Given the description of an element on the screen output the (x, y) to click on. 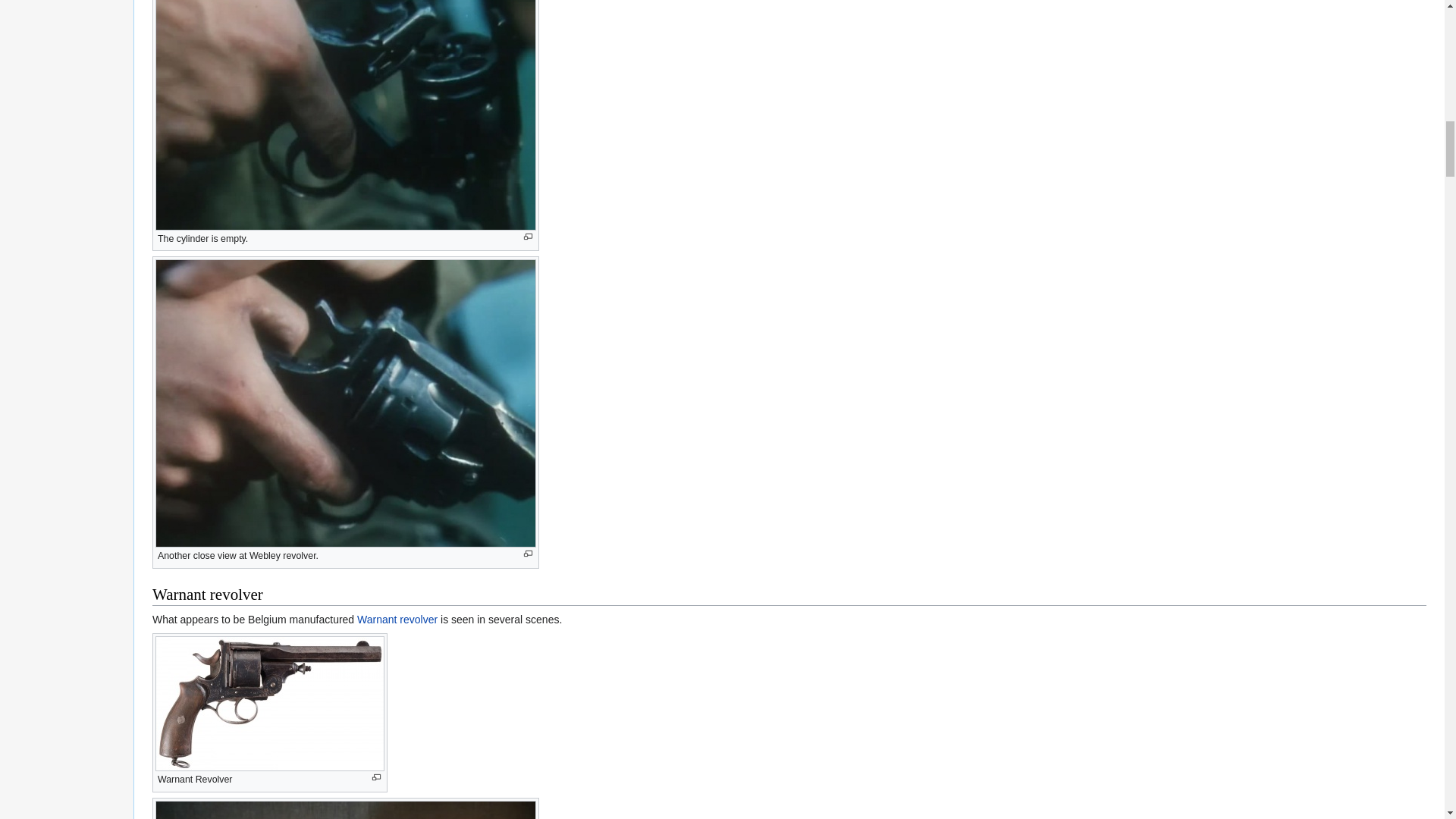
Warnant revolver (397, 619)
Enlarge (528, 236)
Enlarge (528, 553)
Warnant revolver (397, 619)
Enlarge (376, 777)
